Given the description of an element on the screen output the (x, y) to click on. 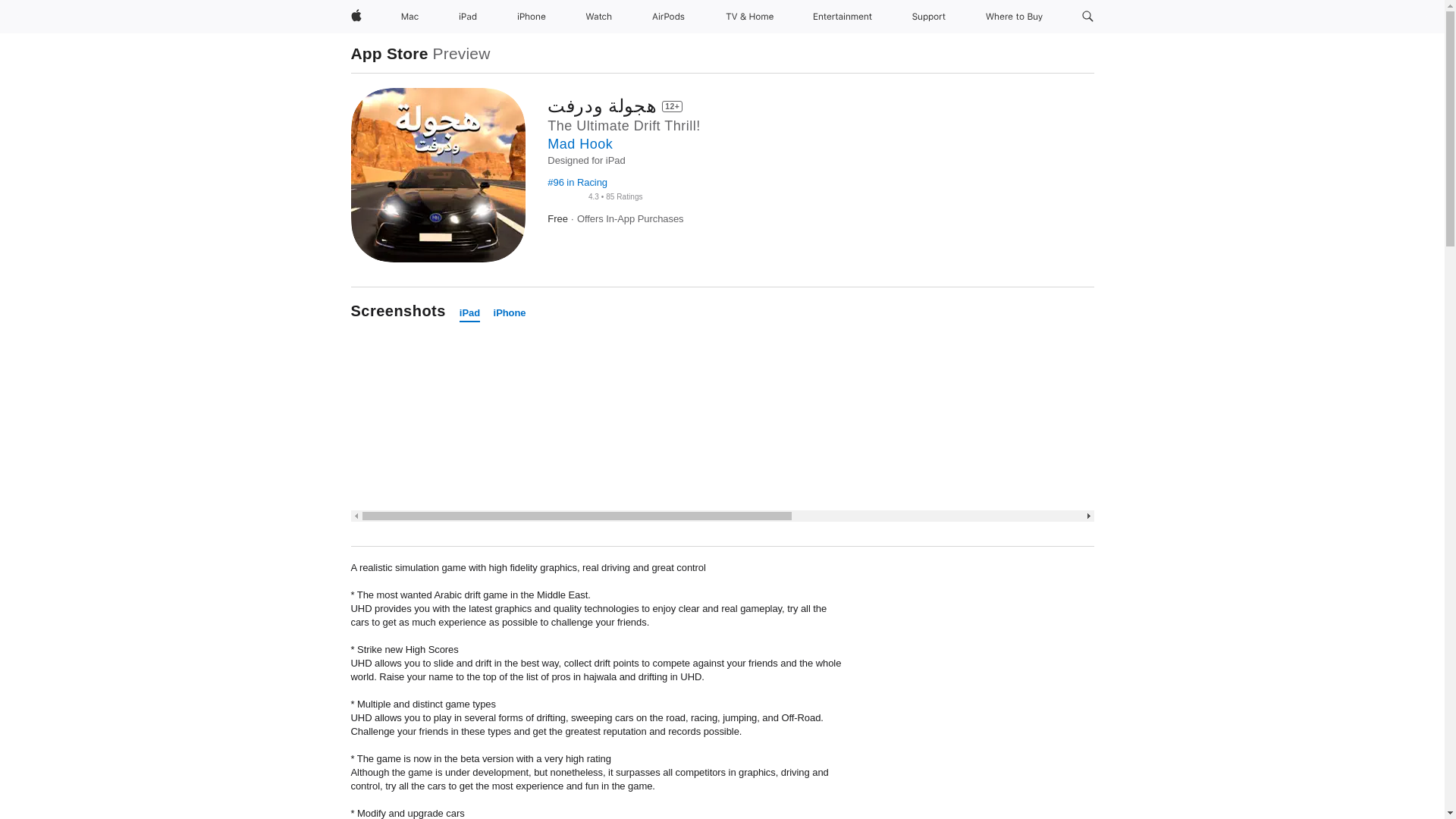
Mac (409, 16)
AirPods (668, 16)
iPhone (531, 16)
Where to Buy (1013, 16)
Watch (598, 16)
Support (928, 16)
Apple (354, 16)
iPhone (509, 313)
Entertainment (842, 16)
iPad (470, 313)
iPad (467, 16)
Mad Hook (579, 143)
App Store (389, 53)
